Given the description of an element on the screen output the (x, y) to click on. 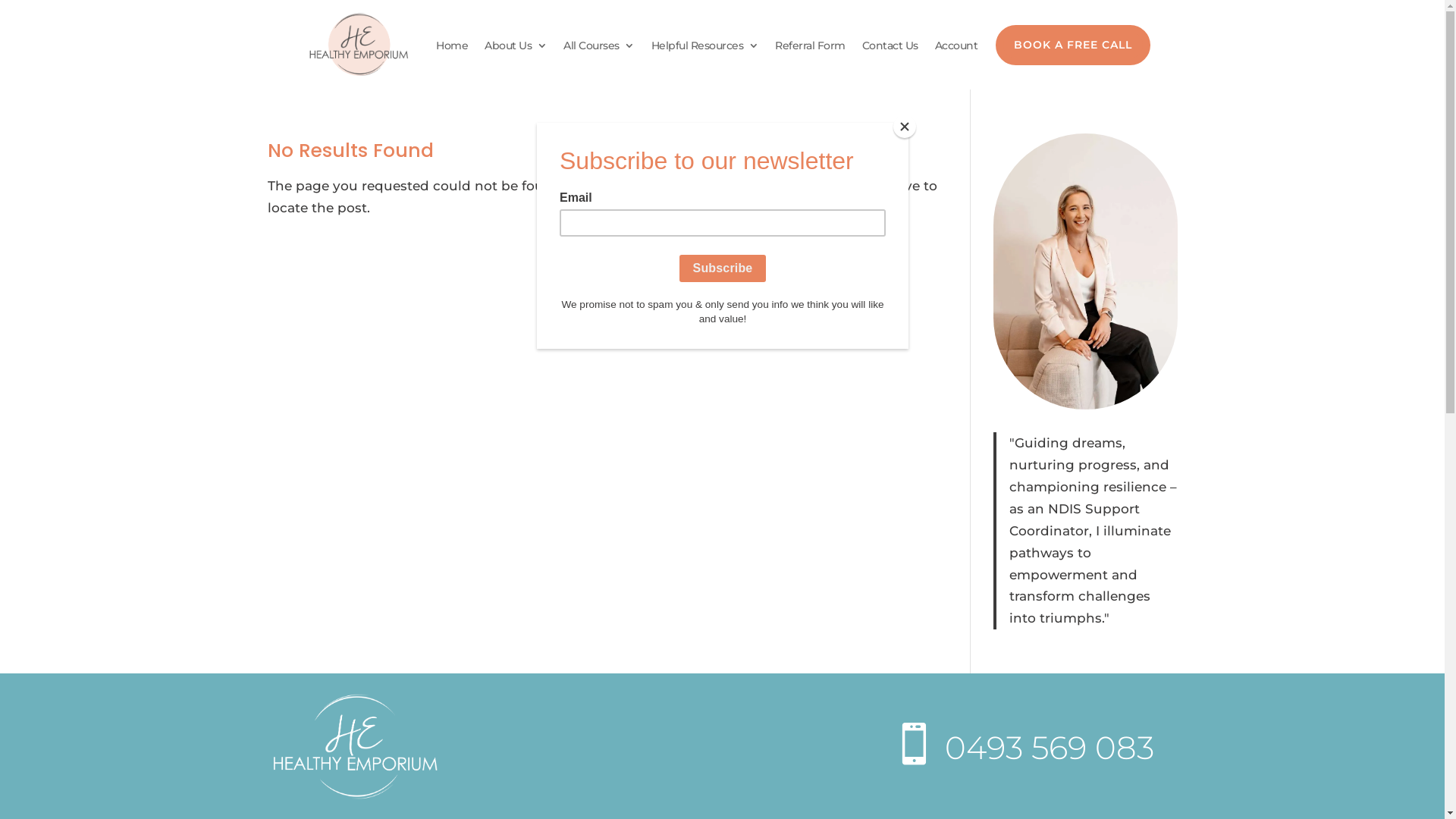
All Courses Element type: text (598, 48)
Helpful Resources Element type: text (704, 48)
Healthy Emporium_Logo-02 Element type: hover (353, 748)
About Us Element type: text (515, 48)
Referral Form Element type: text (810, 48)
Healthy Emporium_Logo-01 Element type: hover (358, 45)
BOOK A FREE CALL Element type: text (1071, 45)
Home Element type: text (451, 48)
Account Element type: text (955, 48)
Contact Us Element type: text (889, 48)
